Given the description of an element on the screen output the (x, y) to click on. 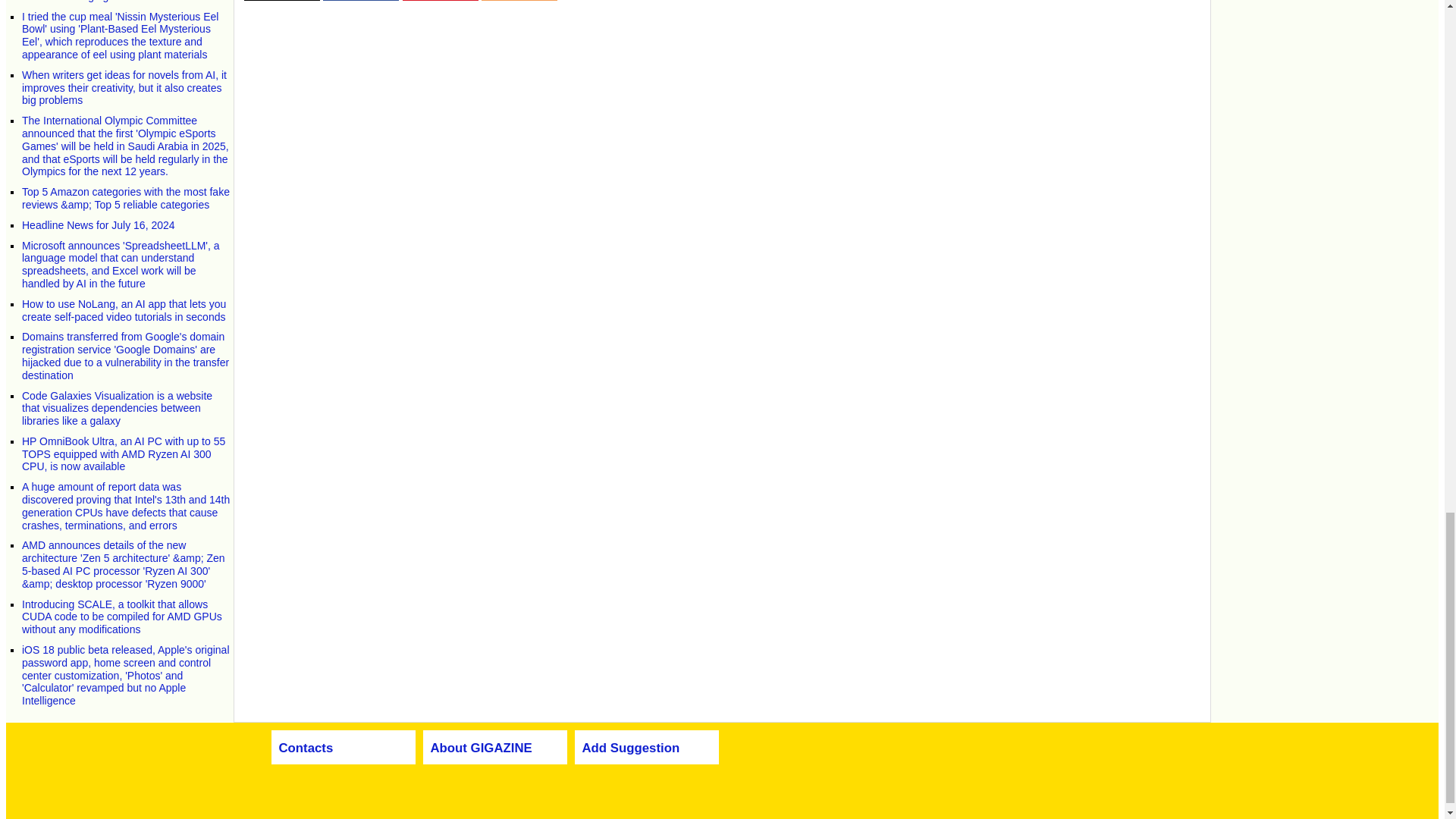
Add Suggestion (630, 748)
